Given the description of an element on the screen output the (x, y) to click on. 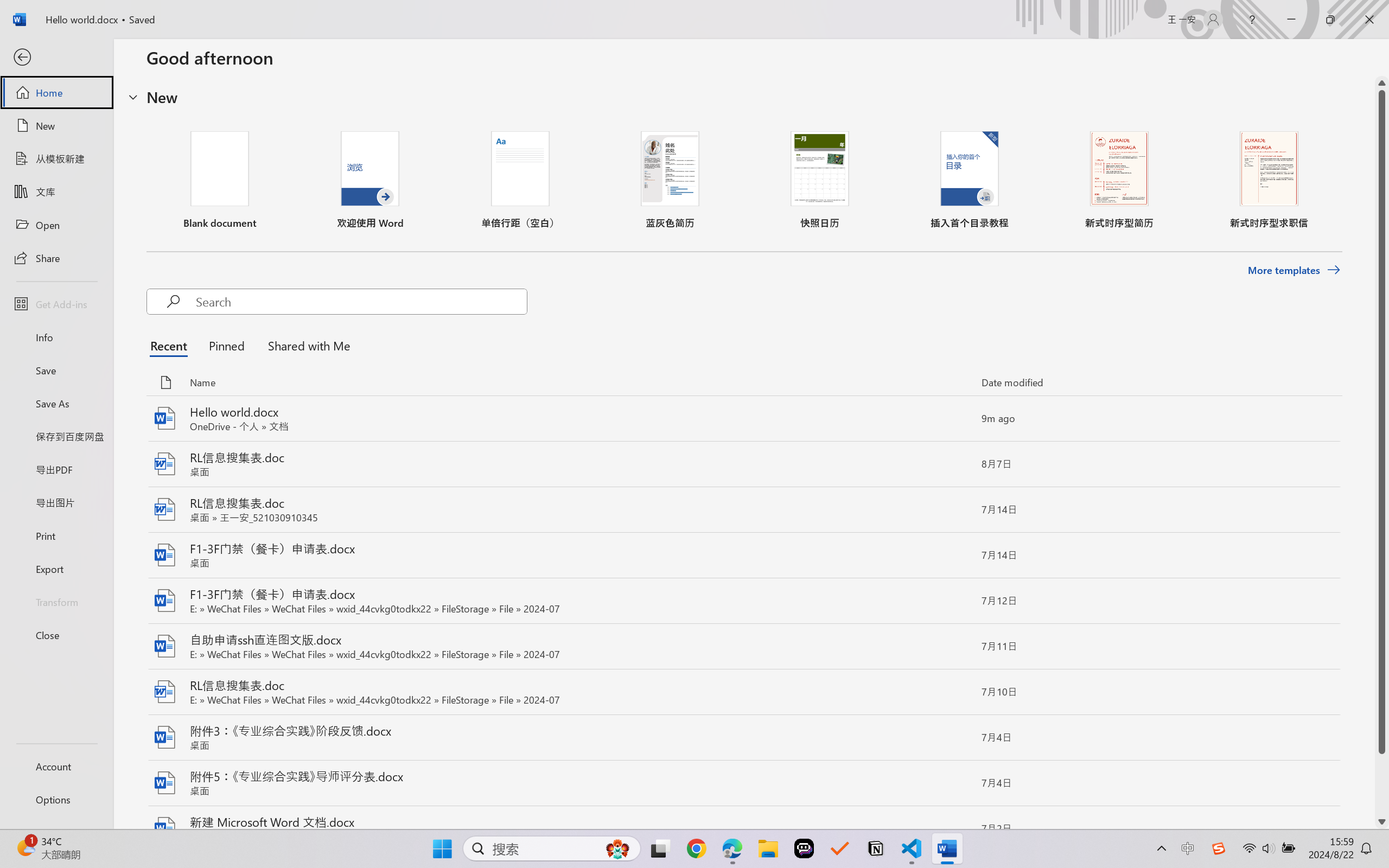
Close (1369, 19)
Class: Image (1218, 847)
Export (56, 568)
Minimize (1291, 19)
Options (56, 798)
Hide or show region (133, 96)
Save As (56, 403)
Pin this item to the list (954, 828)
Shared with Me (305, 345)
Info (56, 337)
